Given the description of an element on the screen output the (x, y) to click on. 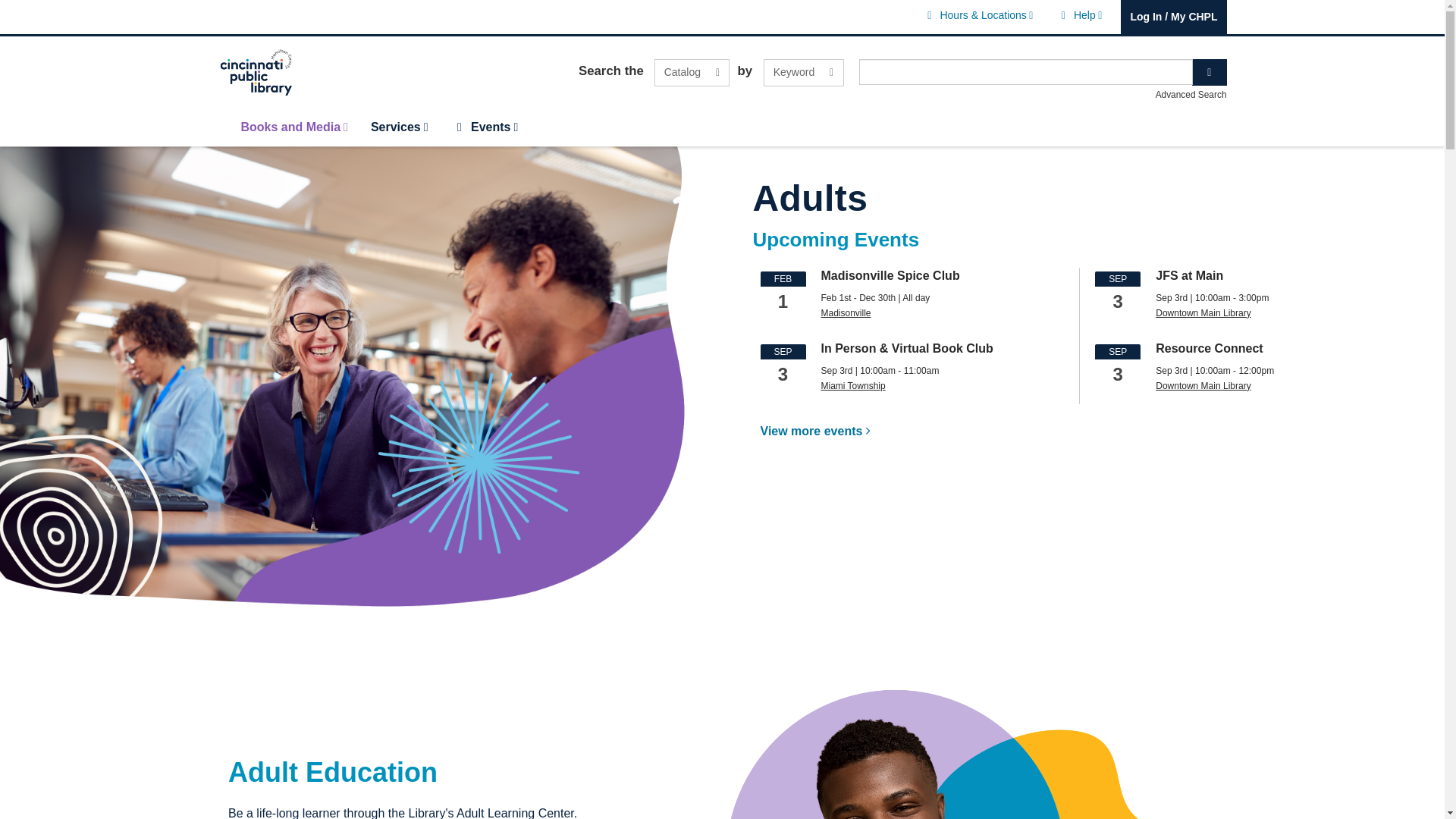
adults-smiling-patron-male (955, 746)
Adult Education (1078, 15)
Catalog (333, 771)
Keyword (691, 72)
